Given the description of an element on the screen output the (x, y) to click on. 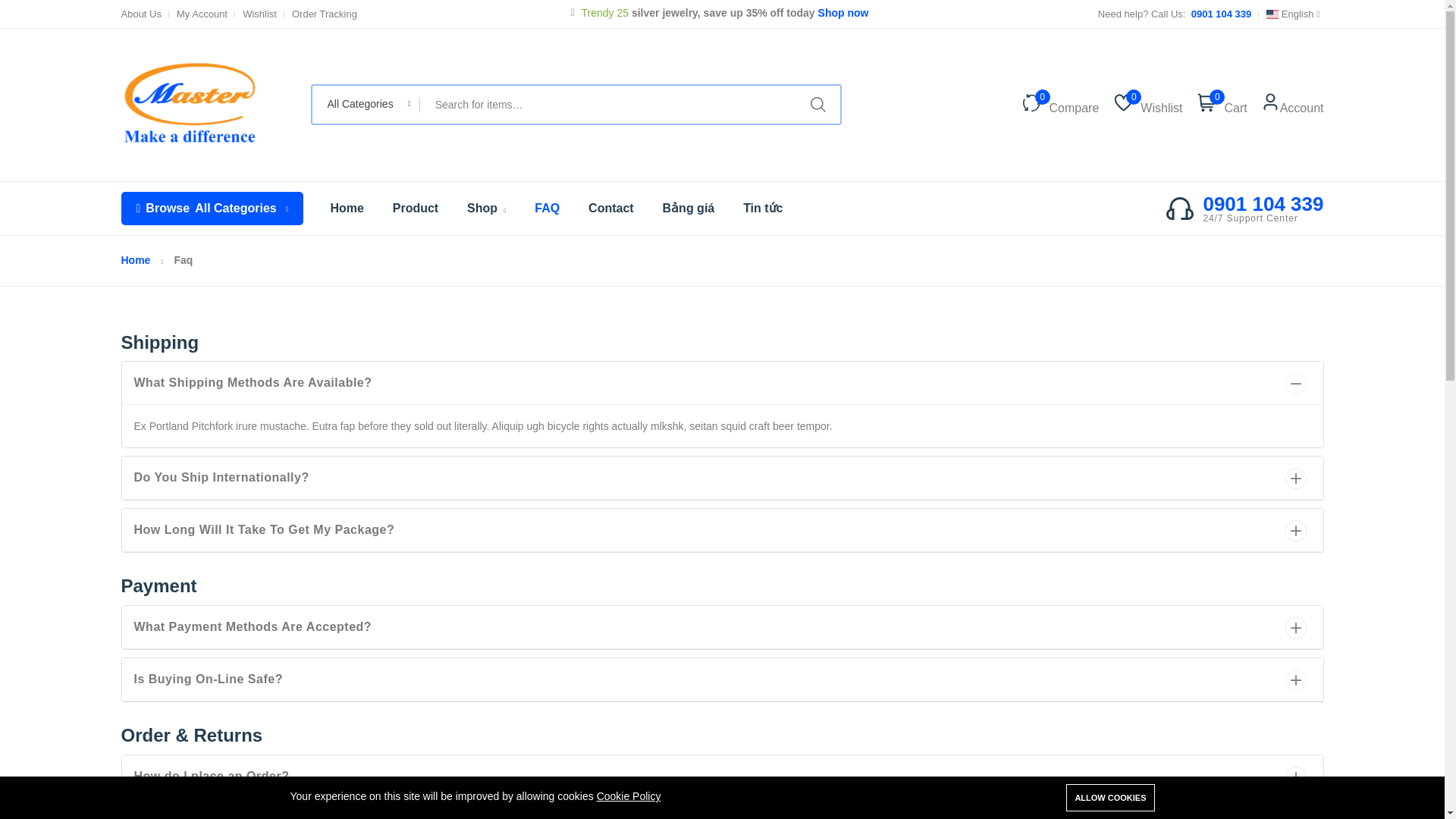
Wishlist (1157, 104)
Order Tracking (324, 13)
Product (212, 208)
Account (415, 208)
Home (1301, 104)
Wishlist (346, 208)
My Account (259, 13)
About Us (201, 13)
Home (140, 13)
